Given the description of an element on the screen output the (x, y) to click on. 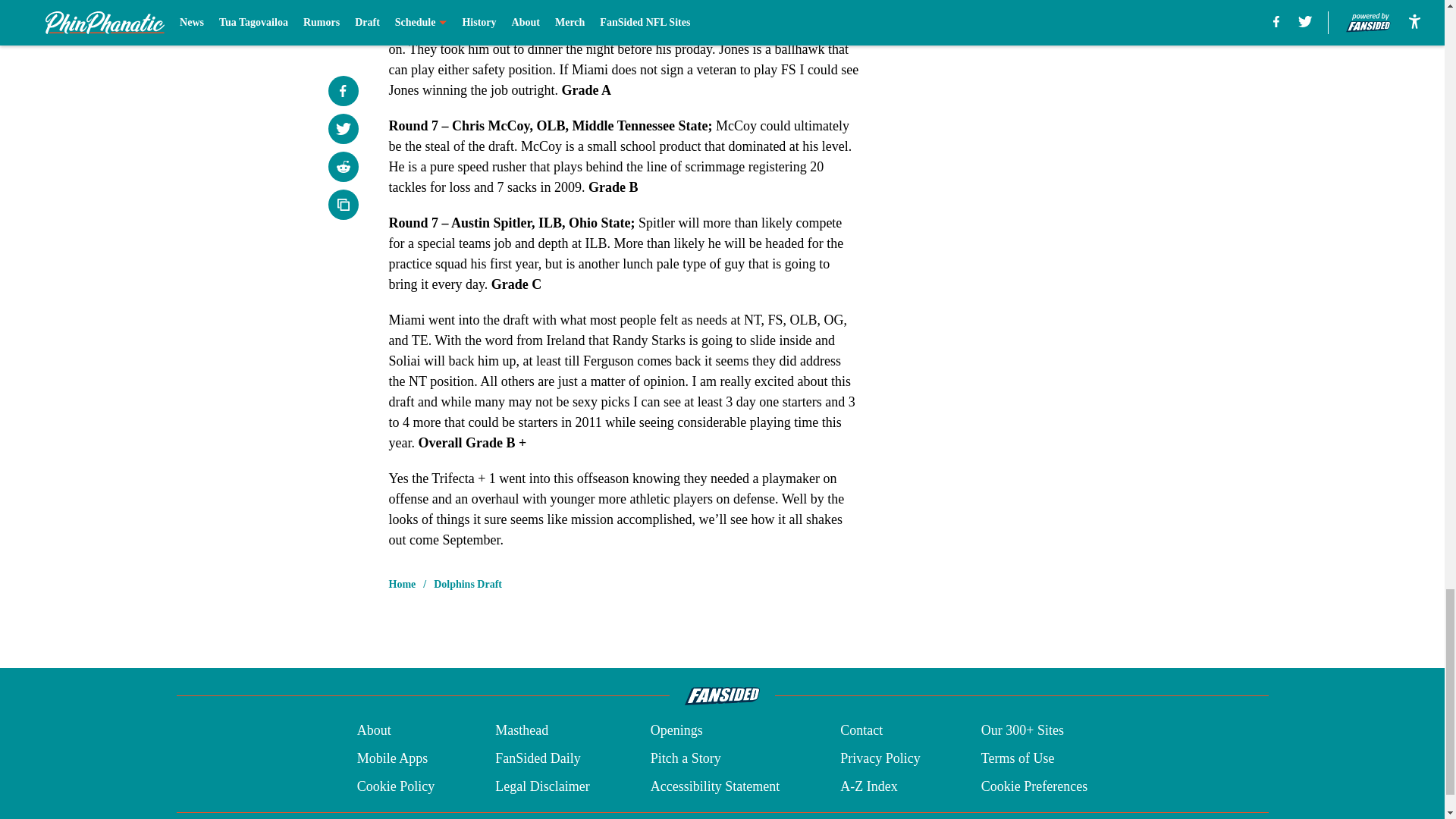
Pitch a Story (685, 758)
Cookie Policy (395, 786)
Masthead (521, 730)
Openings (676, 730)
Home (401, 584)
Privacy Policy (880, 758)
Terms of Use (1017, 758)
Contact (861, 730)
Dolphins Draft (467, 584)
A-Z Index (868, 786)
About (373, 730)
Accessibility Statement (714, 786)
Mobile Apps (392, 758)
Cookie Preferences (1034, 786)
Legal Disclaimer (542, 786)
